Given the description of an element on the screen output the (x, y) to click on. 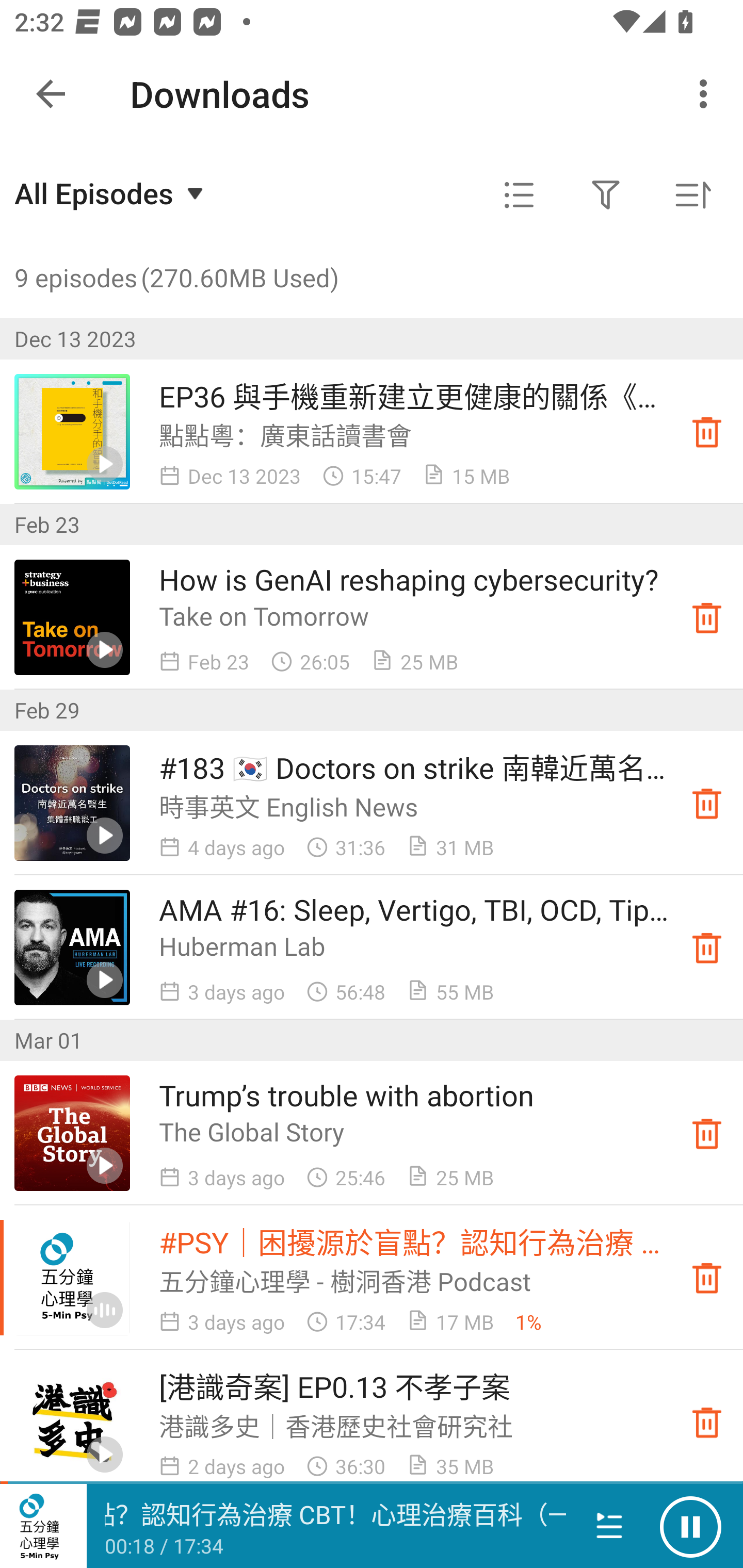
Navigate up (50, 93)
More options (706, 93)
All Episodes (111, 192)
 (518, 195)
 (605, 195)
 Sorted by oldest first (692, 195)
Downloaded (706, 431)
Downloaded (706, 617)
Downloaded (706, 802)
Downloaded (706, 947)
Downloaded (706, 1133)
Downloaded (706, 1277)
Downloaded (706, 1422)
Pause (690, 1526)
